Given the description of an element on the screen output the (x, y) to click on. 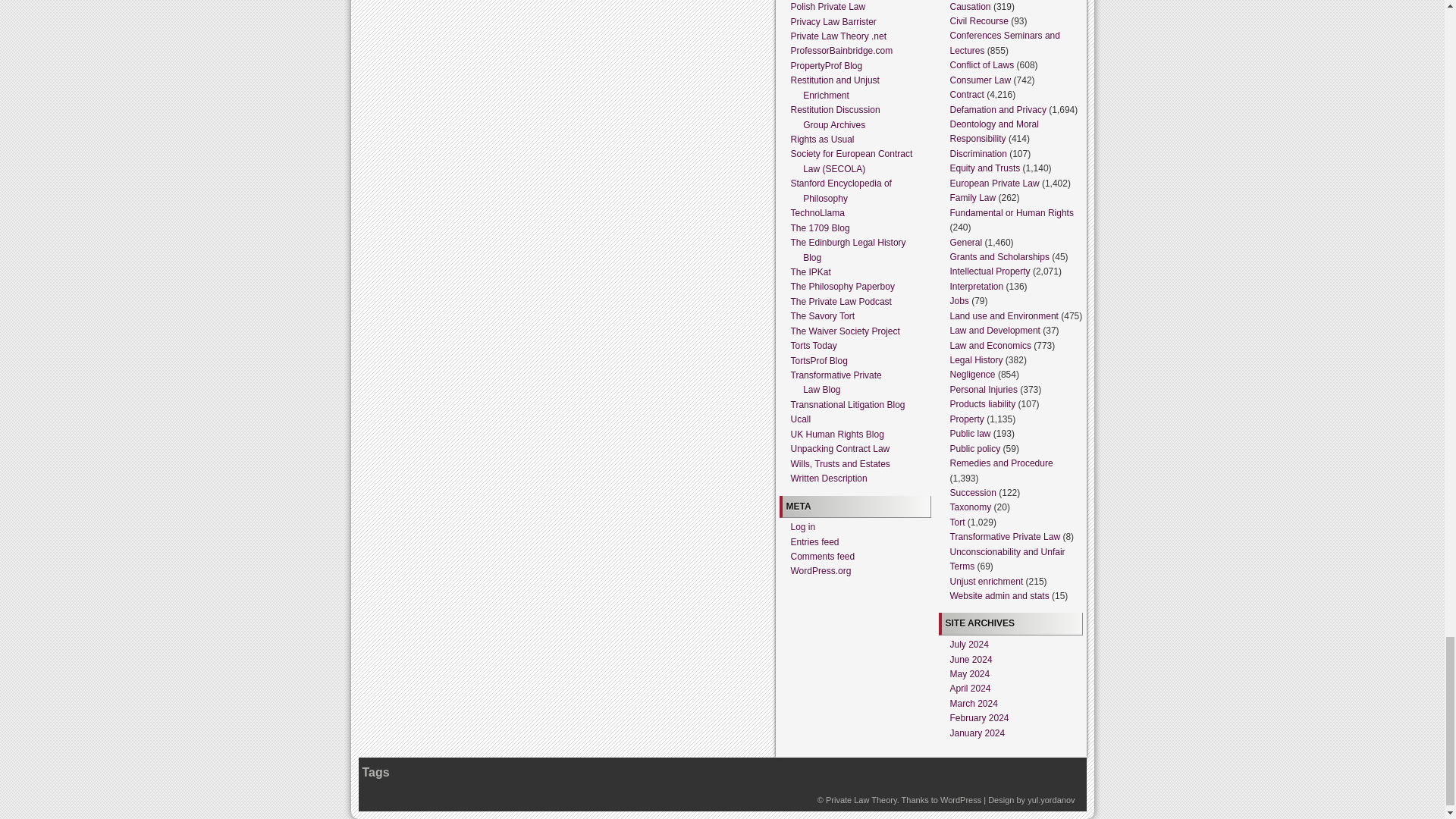
Obligations, Property, Legal Theory (860, 799)
